Given the description of an element on the screen output the (x, y) to click on. 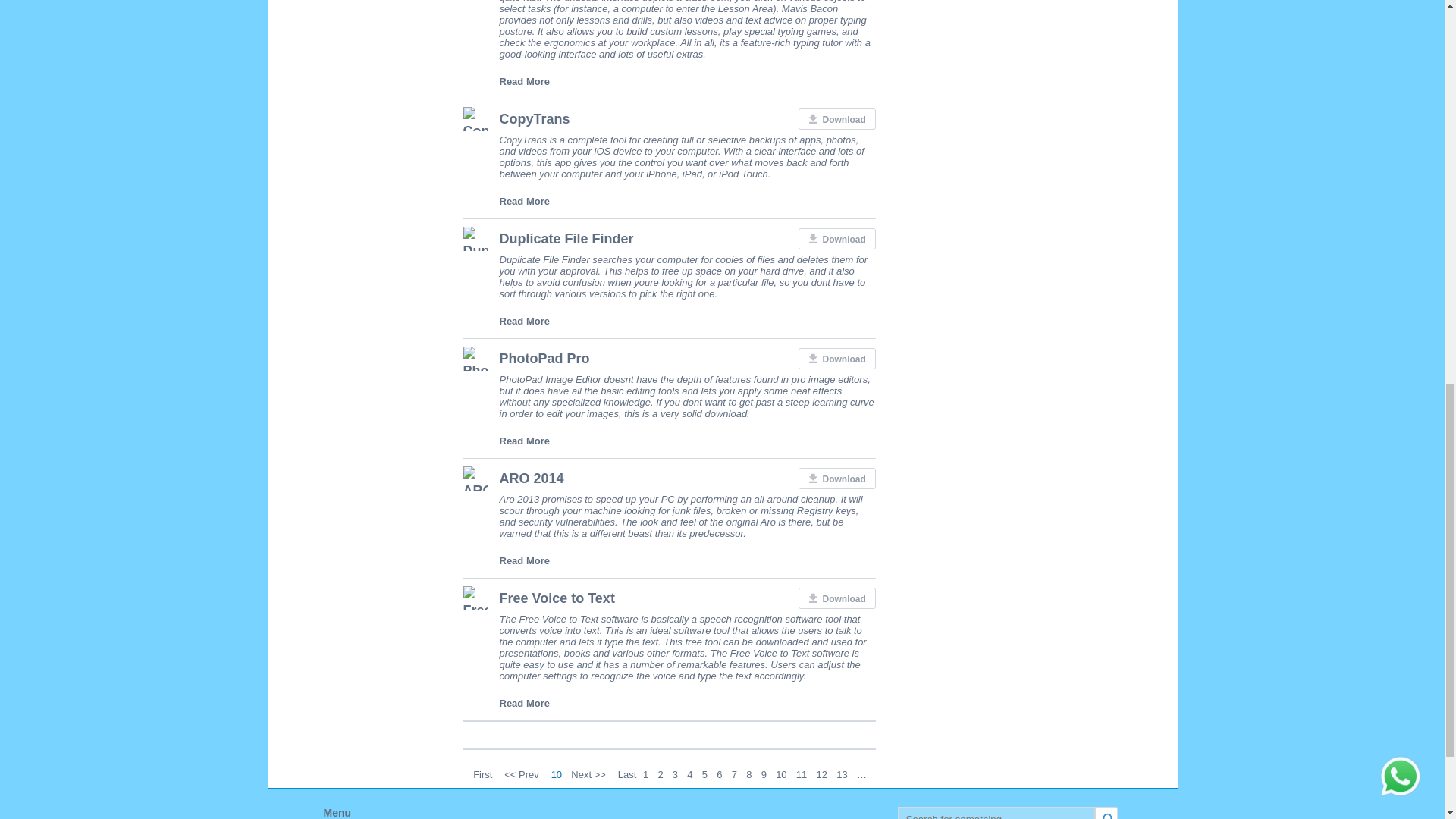
Read More (523, 201)
Download (836, 118)
Read More (523, 81)
